Given the description of an element on the screen output the (x, y) to click on. 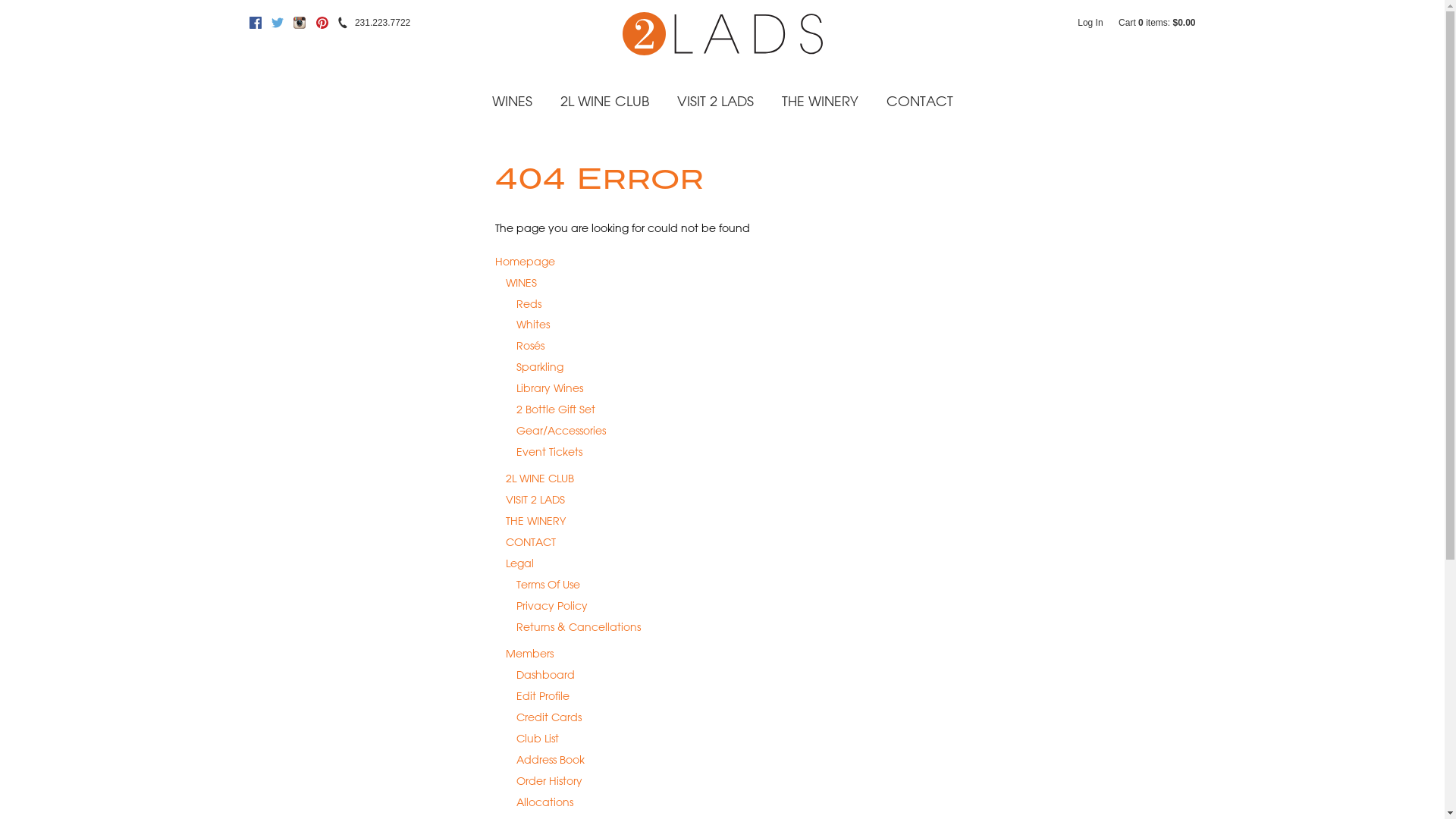
Event Tickets Element type: text (549, 452)
CONTACT Element type: text (918, 100)
Twitter Element type: text (277, 22)
Homepage Element type: text (525, 261)
Instagram Element type: text (299, 22)
Legal Element type: text (519, 563)
Log In Element type: text (1089, 22)
Pinterest Element type: text (322, 22)
Edit Profile Element type: text (542, 696)
Gear/Accessories Element type: text (560, 431)
2L WINE CLUB Element type: text (603, 100)
THE WINERY Element type: text (818, 100)
Facebook Element type: text (254, 22)
2 Bottle Gift Set Element type: text (555, 409)
Order History Element type: text (549, 781)
Privacy Policy Element type: text (551, 606)
Reds Element type: text (528, 303)
THE WINERY Element type: text (535, 521)
2L WINE CLUB Element type: text (539, 478)
Sparkling Element type: text (539, 367)
231.223.7722 Element type: text (382, 22)
Allocations Element type: text (544, 802)
Returns & Cancellations Element type: text (578, 627)
WINES Element type: text (520, 282)
Address Book Element type: text (550, 760)
CONTACT Element type: text (530, 542)
VISIT 2 LADS Element type: text (714, 100)
VISIT 2 LADS Element type: text (534, 500)
Whites Element type: text (532, 324)
Dashboard Element type: text (545, 675)
Cart 0 items: $0.00 Element type: text (1156, 22)
Terms Of Use Element type: text (548, 585)
Club List Element type: text (537, 738)
Credit Cards Element type: text (548, 717)
Library Wines Element type: text (549, 388)
Members Element type: text (529, 654)
WINES Element type: text (511, 100)
